Given the description of an element on the screen output the (x, y) to click on. 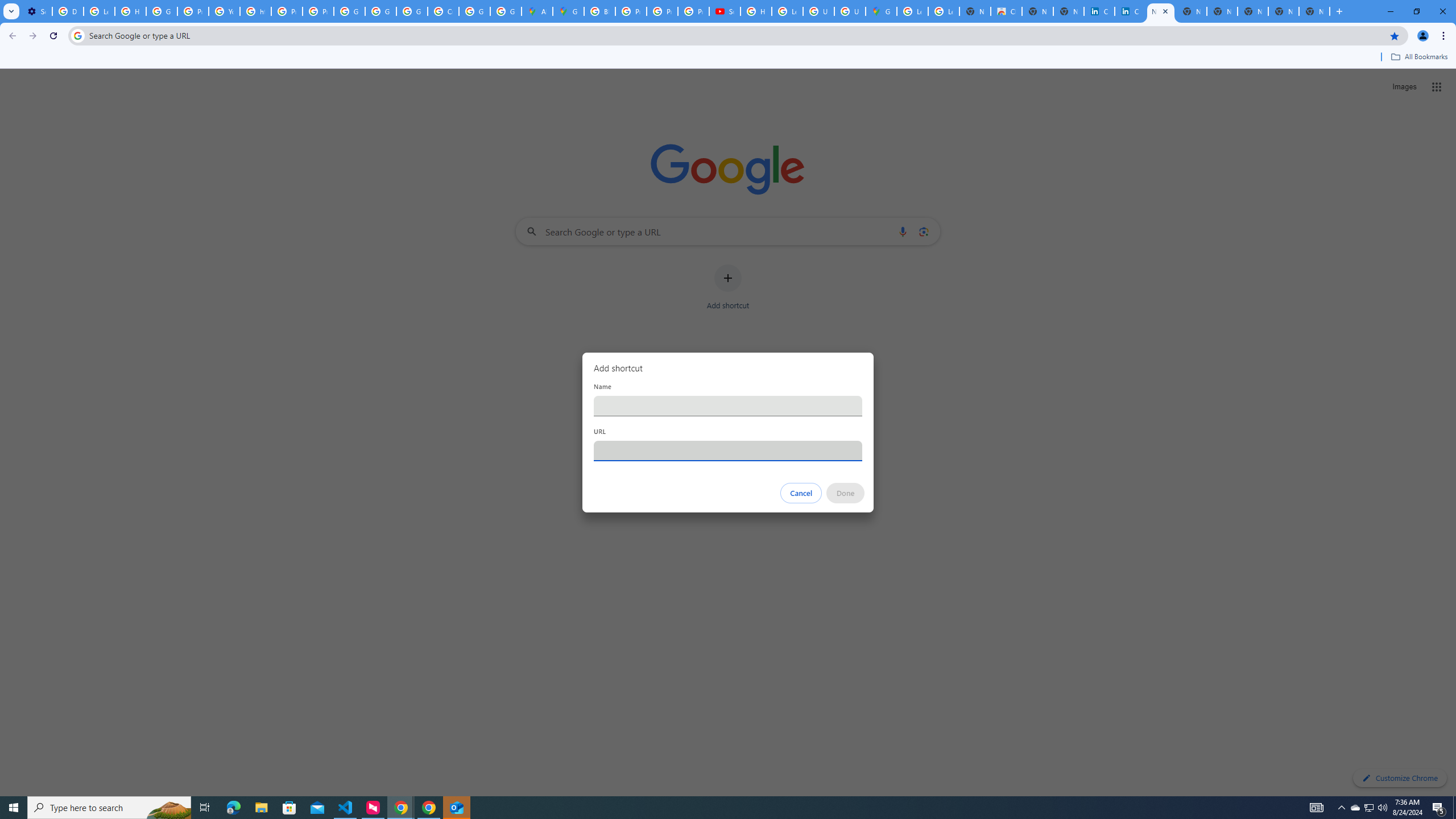
Blogger Policies and Guidelines - Transparency Center (599, 11)
Cancel (801, 493)
YouTube (223, 11)
Privacy Help Center - Policies Help (286, 11)
Google Account Help (161, 11)
How Chrome protects your passwords - Google Chrome Help (756, 11)
URL (727, 450)
Learn how to find your photos - Google Photos Help (98, 11)
Restore (1416, 11)
Done (845, 493)
Google Maps (881, 11)
Privacy Help Center - Policies Help (662, 11)
Reload (52, 35)
